Given the description of an element on the screen output the (x, y) to click on. 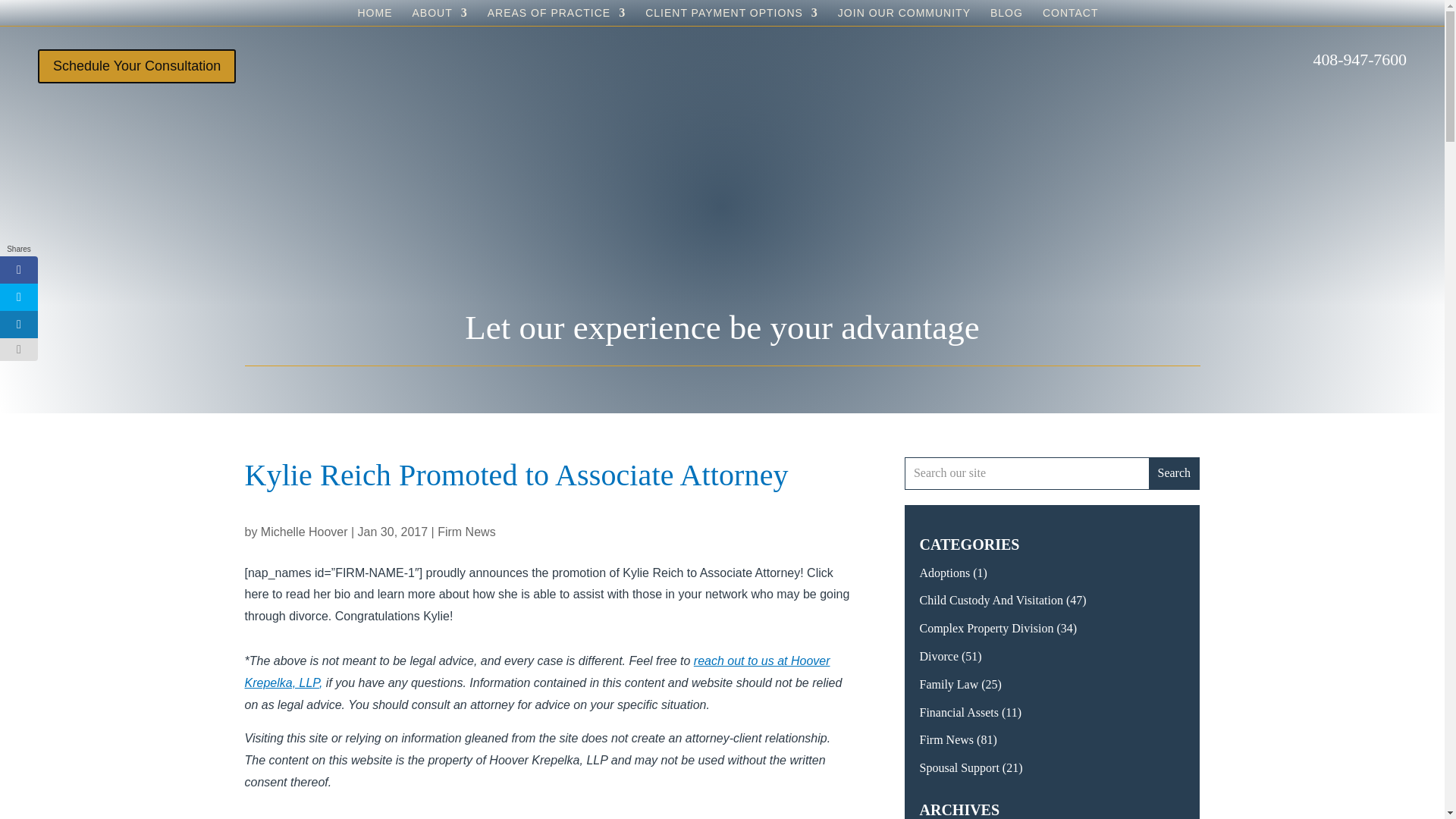
Posts by Michelle Hoover (303, 531)
Search (1173, 472)
Search (1173, 472)
